Given the description of an element on the screen output the (x, y) to click on. 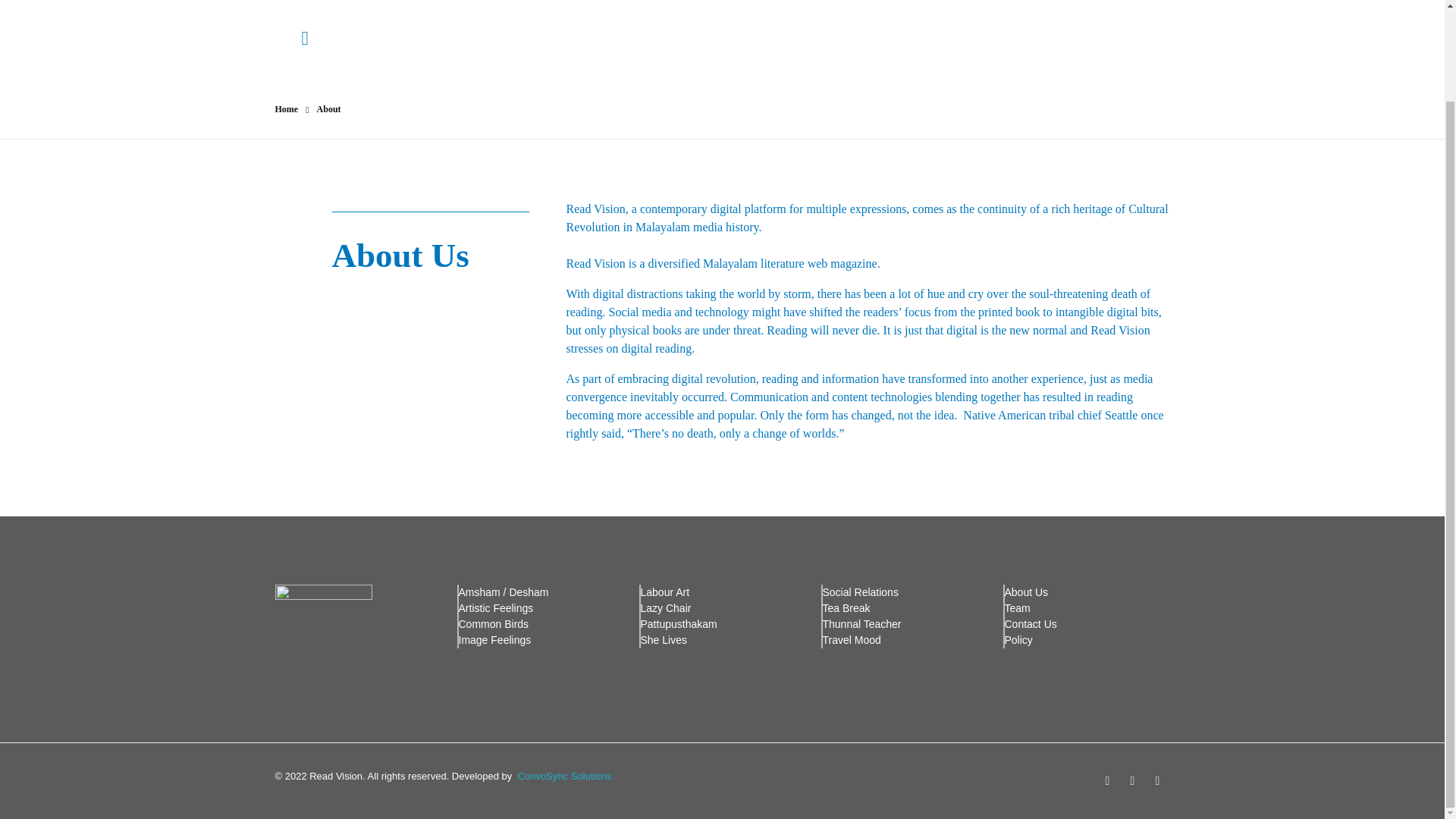
Readvision (712, 9)
Home (286, 109)
Readvision (712, 9)
Home (286, 109)
